Given the description of an element on the screen output the (x, y) to click on. 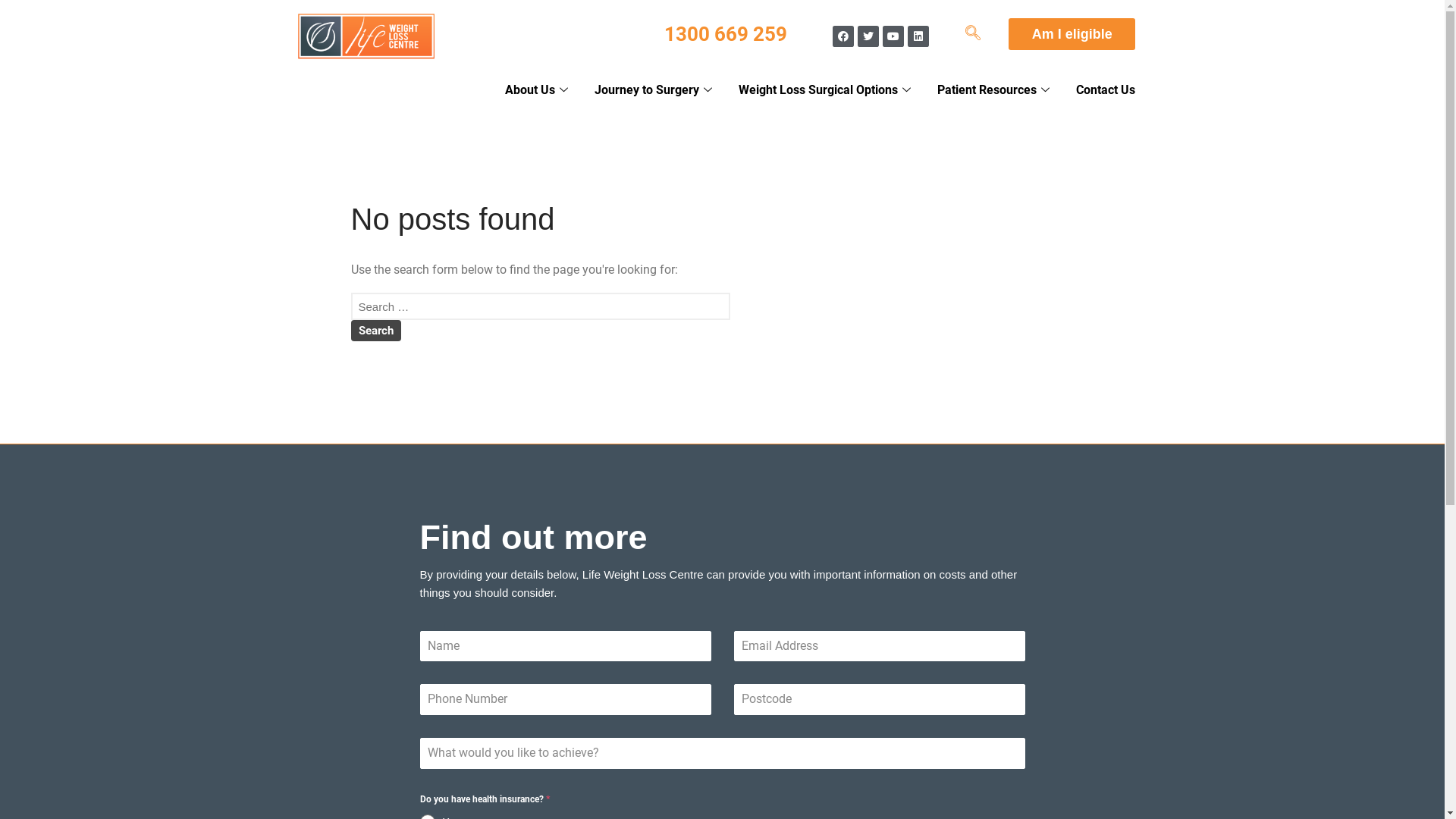
Contact Us Element type: text (1105, 90)
Weight Loss Surgical Options Element type: text (826, 90)
Search Element type: text (375, 330)
Patient Resources Element type: text (994, 90)
1300 669 259 Element type: text (725, 33)
Journey to Surgery Element type: text (655, 90)
Am I eligible Element type: text (1071, 34)
About Us Element type: text (538, 90)
